Given the description of an element on the screen output the (x, y) to click on. 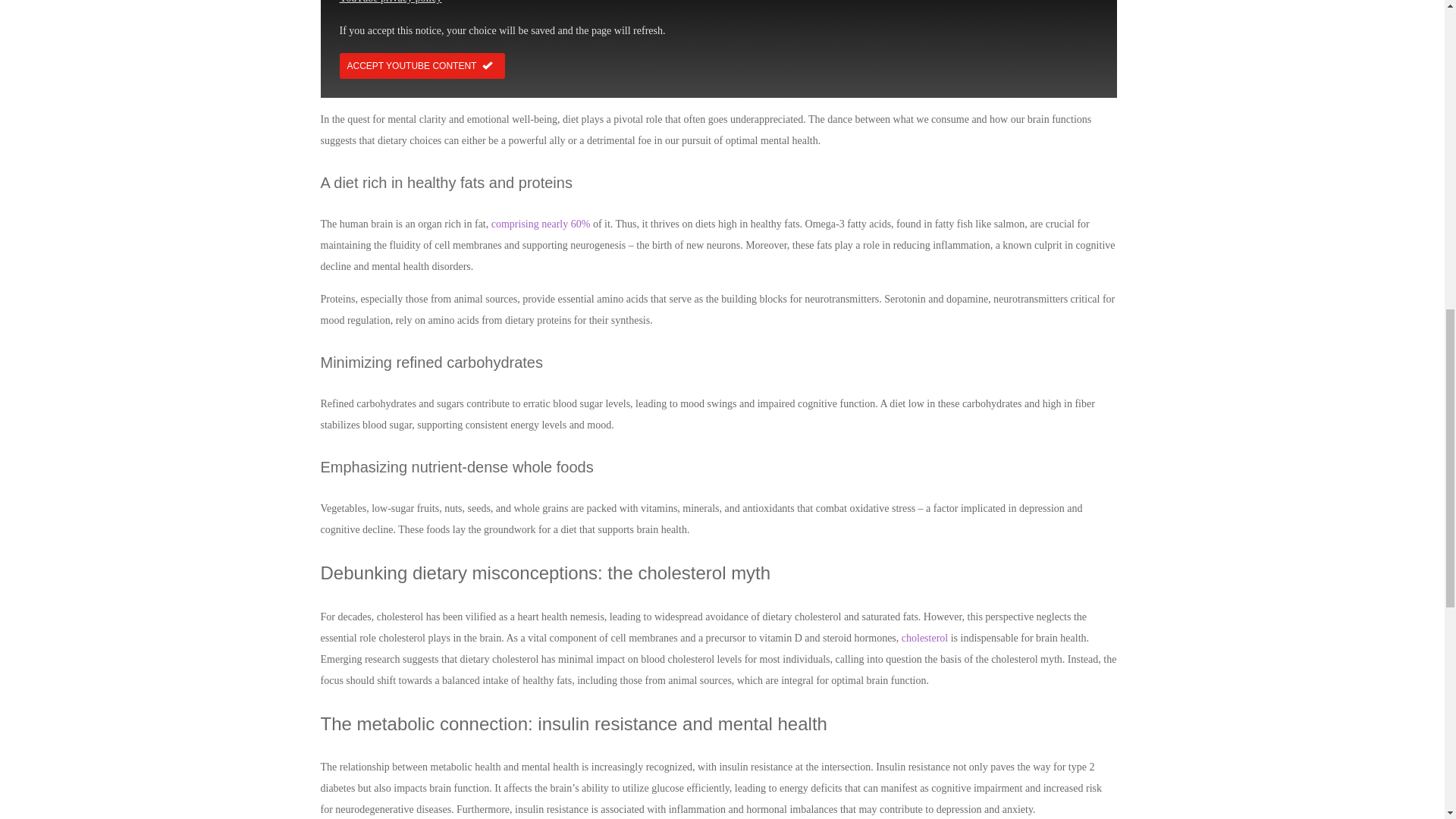
cholesterol (924, 637)
YouTube privacy policy (390, 2)
ACCEPT YOUTUBE CONTENT (422, 65)
